Given the description of an element on the screen output the (x, y) to click on. 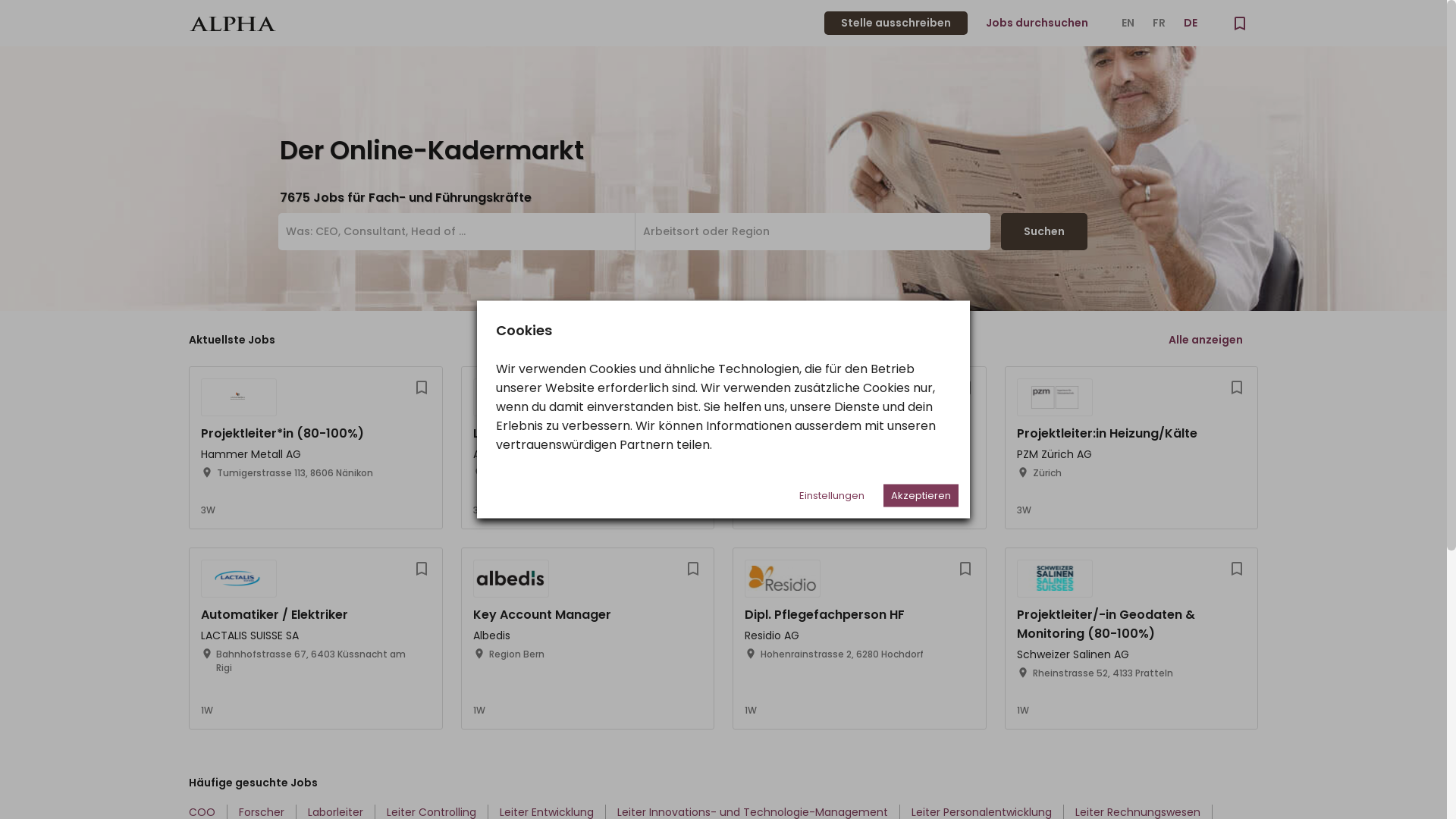
Projektleiter/-in Geodaten & Monitoring (80-100%) Element type: text (1105, 623)
Automatiker / Elektriker Element type: text (274, 614)
Dipl. Pflegefachperson HF Element type: text (824, 614)
EN Element type: text (1127, 23)
Einstellungen Element type: text (831, 494)
Akzeptieren Element type: text (920, 494)
Suchen Element type: text (1044, 231)
Key Account Manager Element type: text (542, 614)
Alle anzeigen Element type: text (1205, 340)
Merkliste Element type: hover (1239, 22)
DE Element type: text (1190, 23)
Jobs durchsuchen Element type: text (1036, 23)
Scrum Master (f/m/d) Element type: text (814, 433)
FR Element type: text (1158, 23)
Stelle ausschreiben Element type: text (895, 22)
Projektleiter*in (80-100%) Element type: text (282, 433)
Leitung Wohngruppe Element type: text (537, 433)
